Given the description of an element on the screen output the (x, y) to click on. 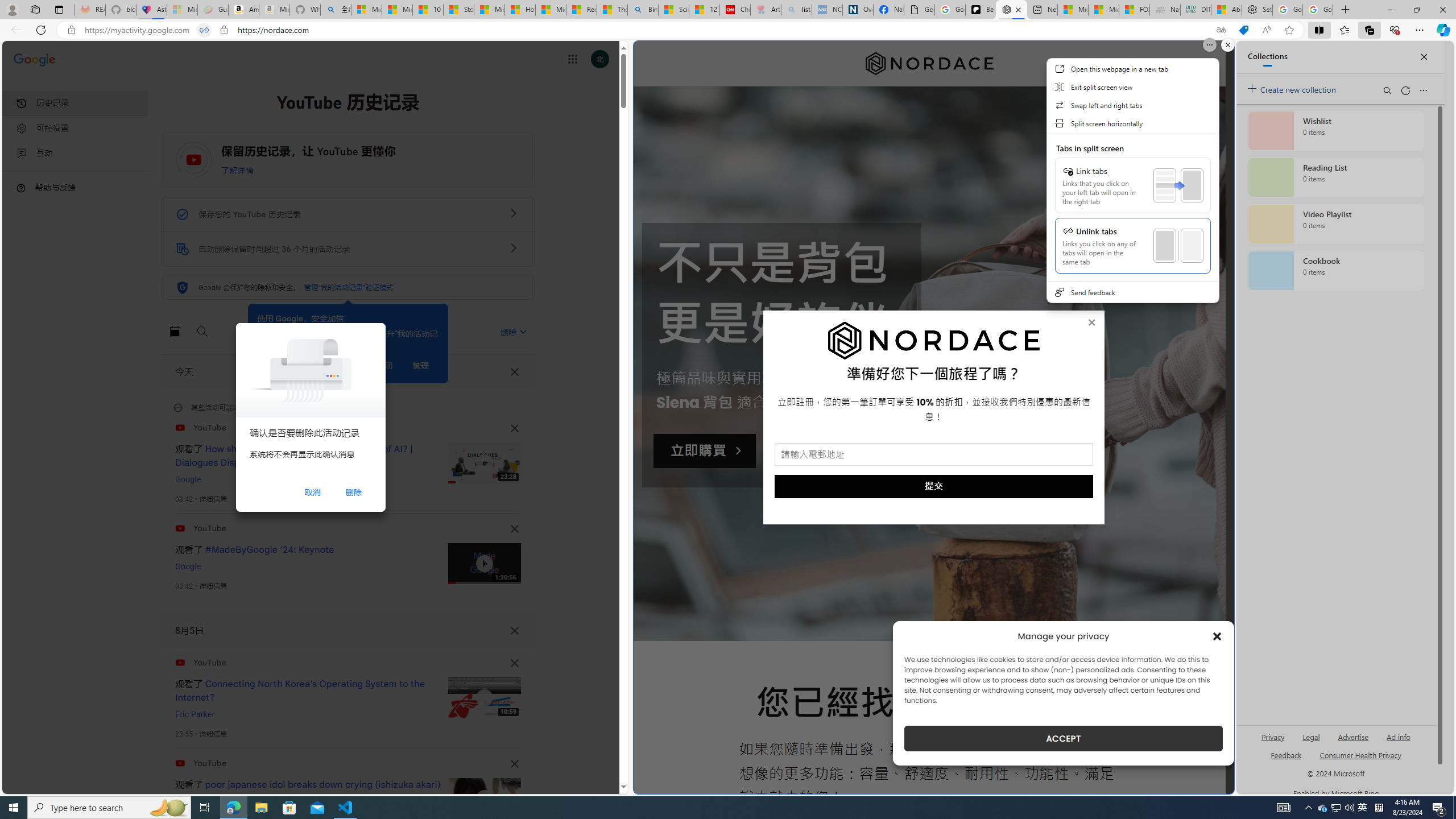
Link tabs (1133, 184)
Bing (642, 9)
Class: SplitWindowMenuLinkPanelView (1132, 208)
FOX News - MSN (1133, 9)
Swap left and right tabs (1132, 104)
Stocks - MSN (458, 9)
Asthma Inhalers: Names and Types (151, 9)
Recipes - MSN (581, 9)
